Given the description of an element on the screen output the (x, y) to click on. 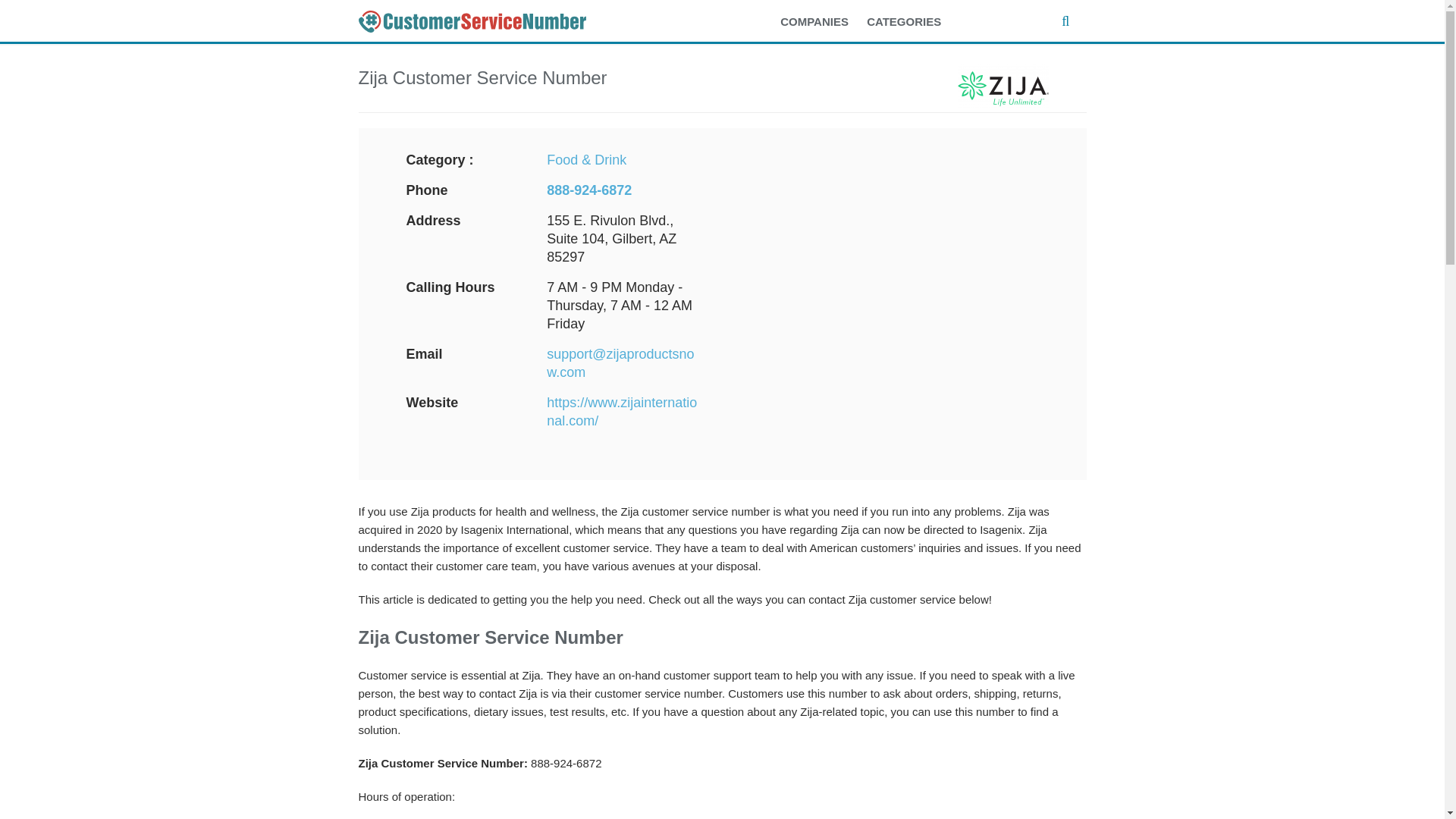
COMPANIES (821, 21)
CATEGORIES (911, 21)
888-924-6872 (589, 190)
